Given the description of an element on the screen output the (x, y) to click on. 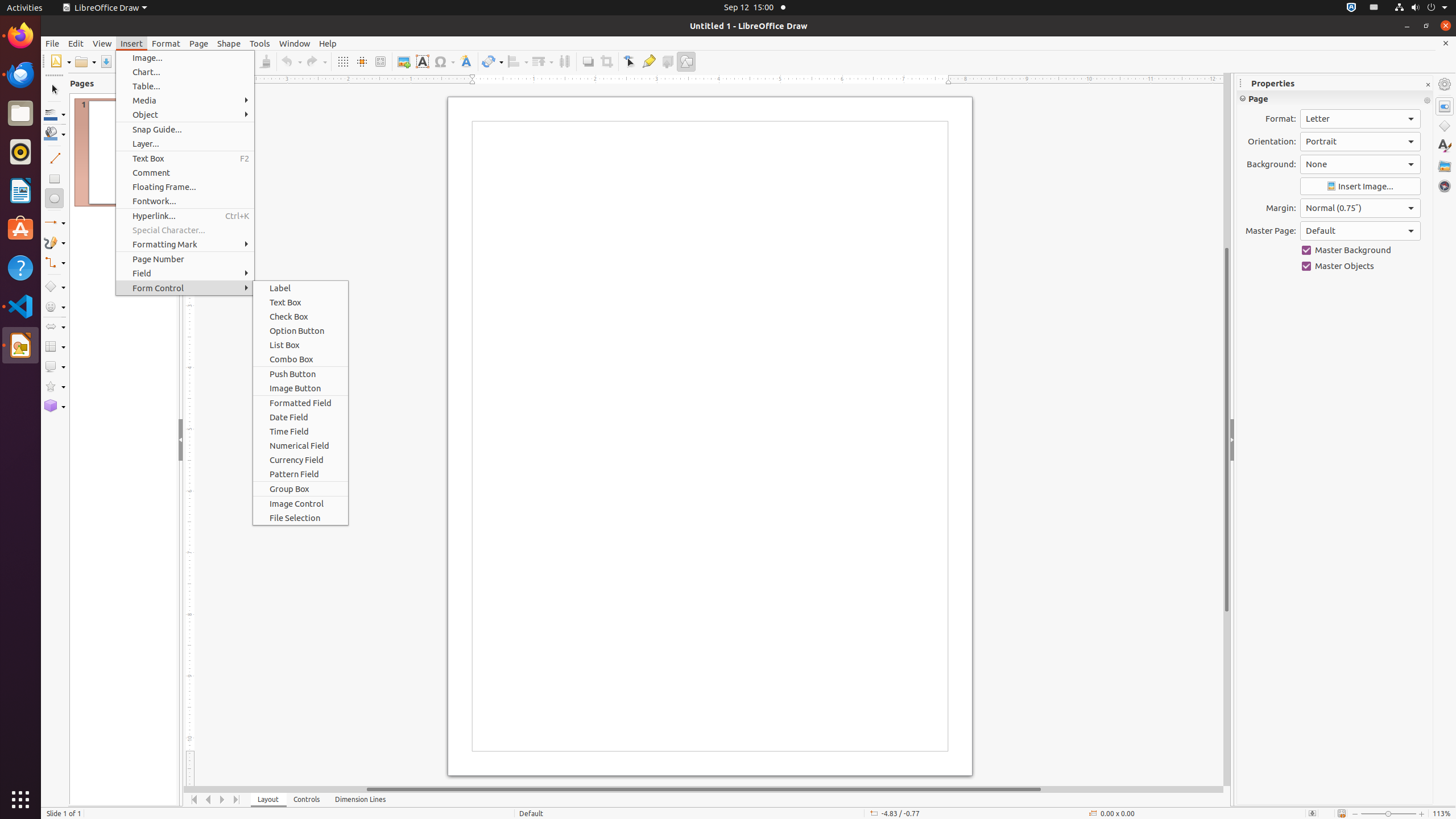
:1.72/StatusNotifierItem Element type: menu (1350, 7)
Line Color Element type: push-button (54, 113)
Image Element type: push-button (403, 61)
Layout Element type: page-tab (268, 799)
Special Character... Element type: menu-item (185, 229)
